Given the description of an element on the screen output the (x, y) to click on. 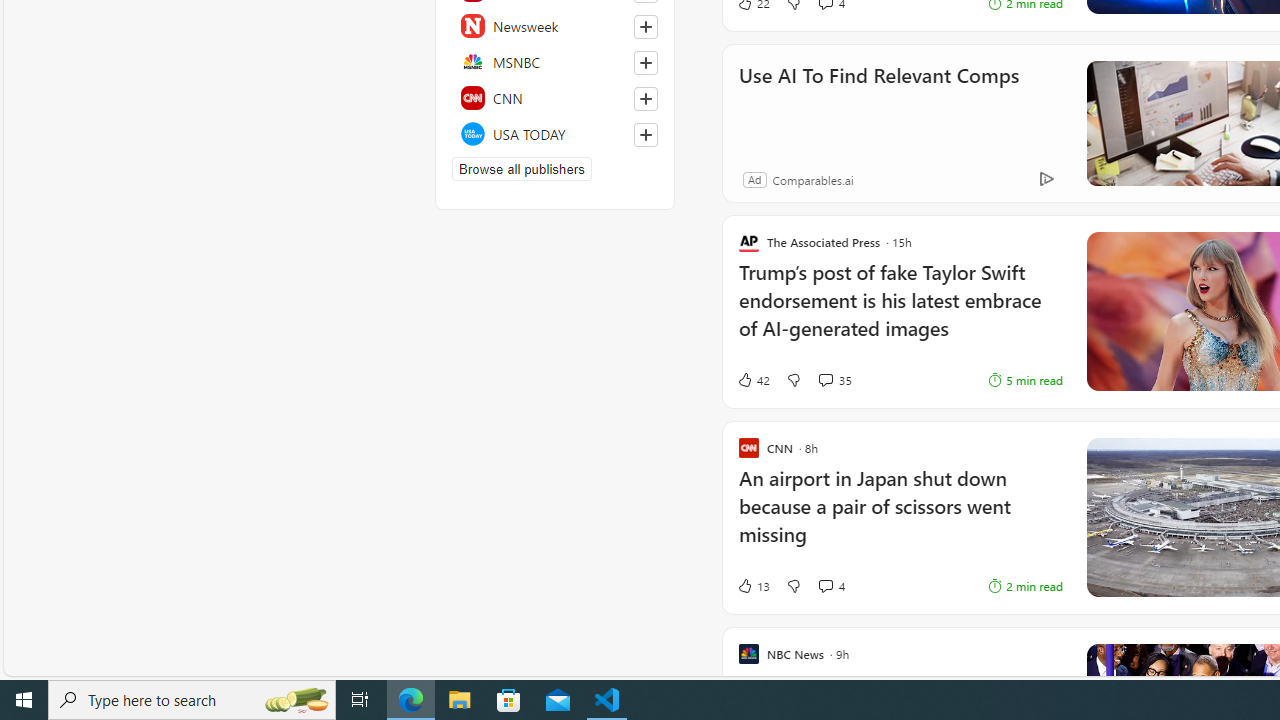
Follow this source (645, 134)
42 Like (753, 379)
View comments 35 Comment (825, 380)
USA TODAY (555, 133)
